Given the description of an element on the screen output the (x, y) to click on. 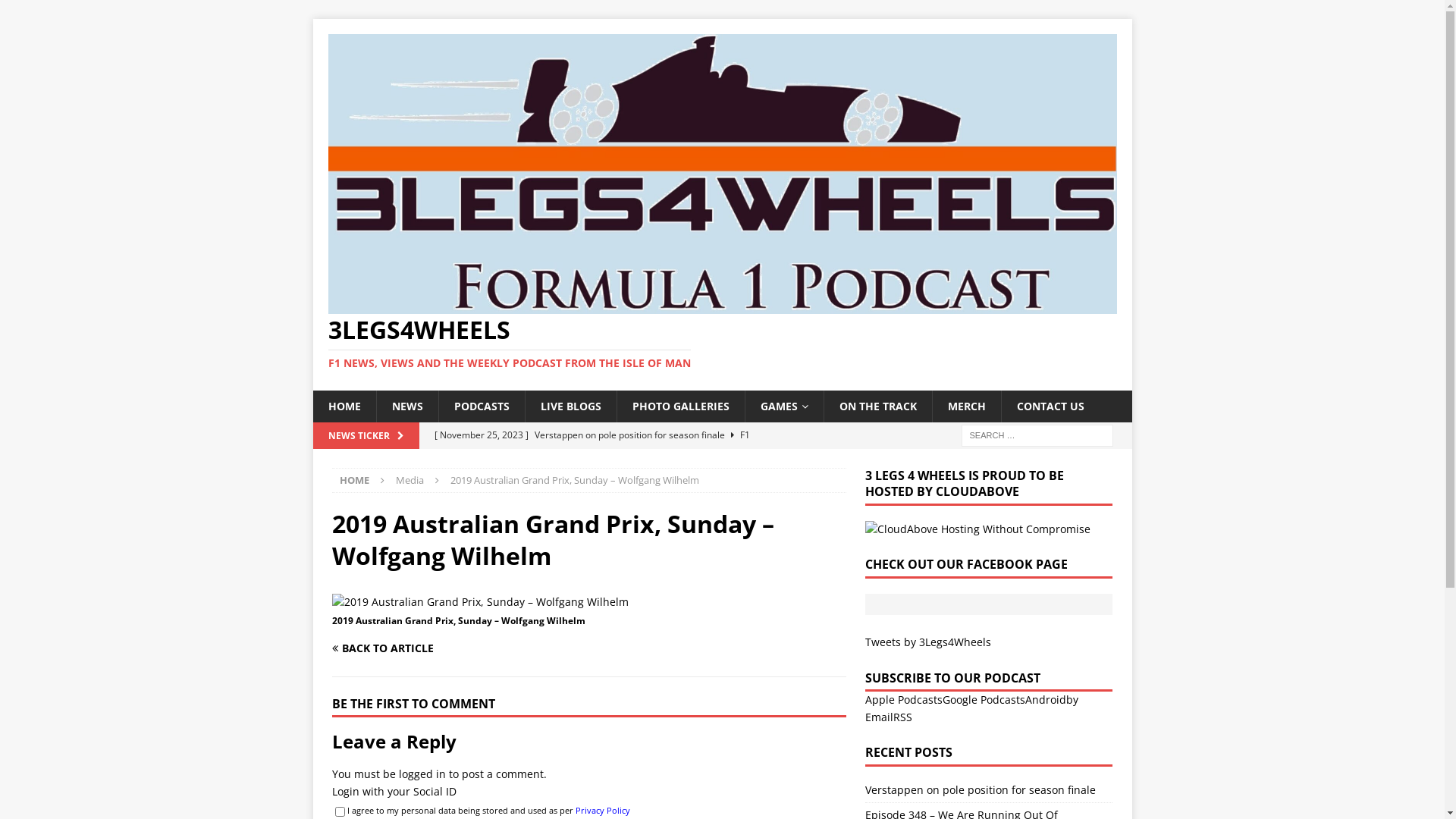
MERCH Element type: text (965, 406)
by Email Element type: text (971, 707)
LIVE BLOGS Element type: text (570, 406)
CONTACT US Element type: text (1050, 406)
HOME Element type: text (343, 406)
Tweets by 3Legs4Wheels Element type: text (928, 641)
Privacy Policy Element type: text (601, 809)
ON THE TRACK Element type: text (877, 406)
Verstappen on pole position for season finale Element type: text (980, 789)
Apple Podcasts Element type: text (903, 699)
Google Podcasts Element type: text (983, 699)
HOME Element type: text (354, 479)
NEWS Element type: text (407, 406)
BACK TO ARTICLE Element type: text (457, 648)
Search Element type: text (56, 11)
GAMES Element type: text (783, 406)
PODCASTS Element type: text (481, 406)
Android Element type: text (1045, 699)
RSS Element type: text (902, 716)
logged in Element type: text (421, 773)
PHOTO GALLERIES Element type: text (679, 406)
